Given the description of an element on the screen output the (x, y) to click on. 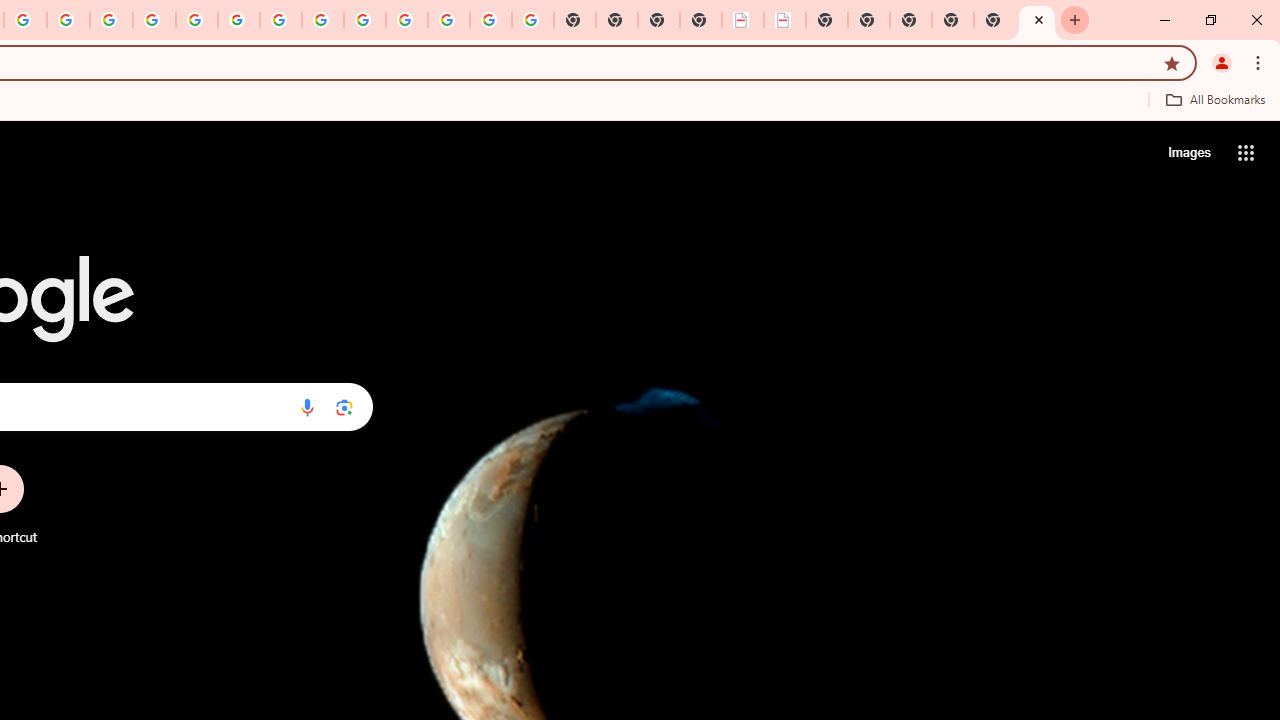
YouTube (280, 20)
Privacy Help Center - Policies Help (154, 20)
BAE Systems Brasil | BAE Systems (785, 20)
